Given the description of an element on the screen output the (x, y) to click on. 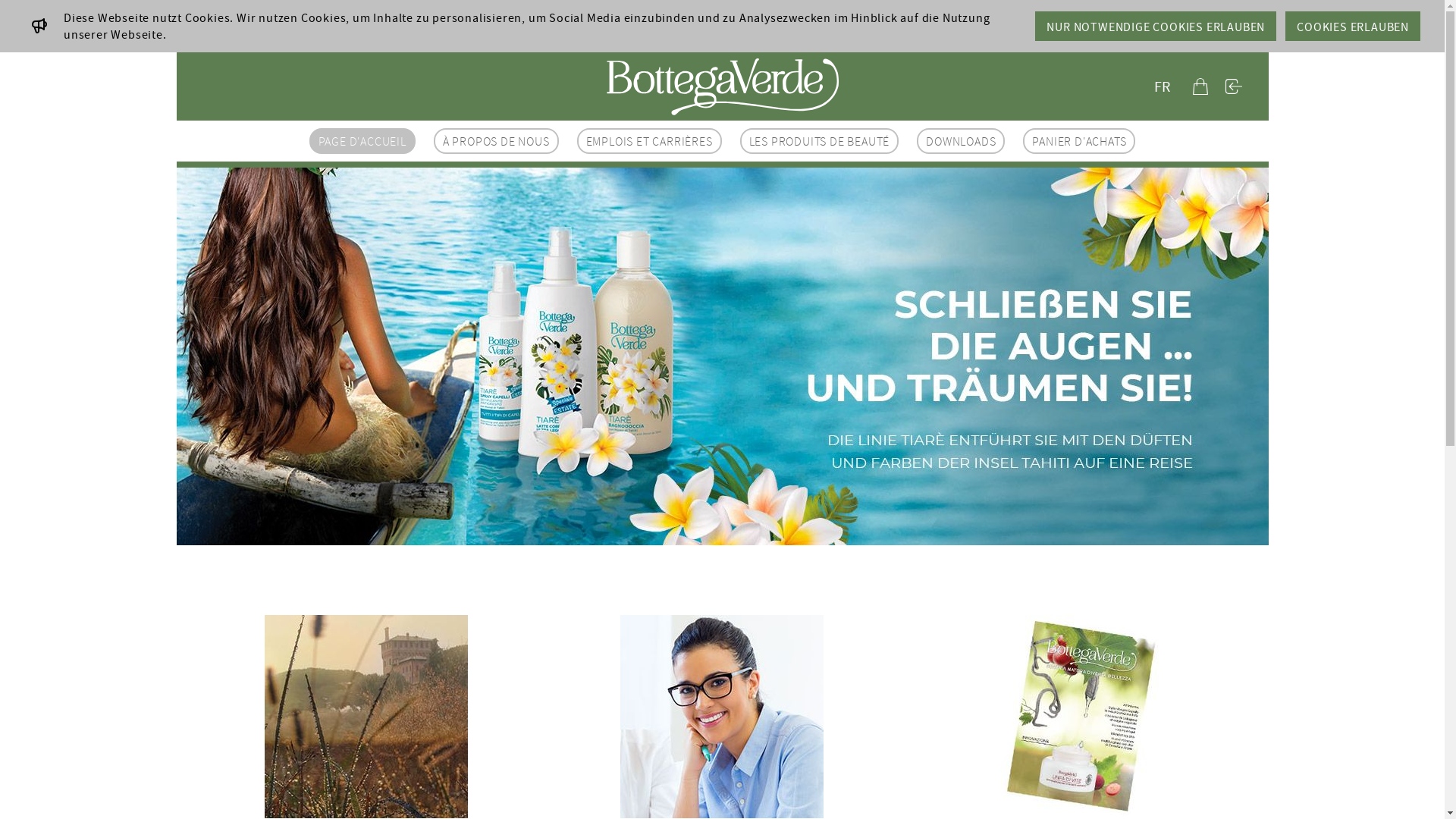
PAGE D'ACCUEIL Element type: text (362, 140)
DOWNLOADS Element type: text (960, 140)
PANIER D'ACHATS Element type: text (1078, 140)
FR Element type: text (1161, 86)
NUR NOTWENDIGE COOKIES ERLAUBEN Element type: text (1155, 25)
COOKIES ERLAUBEN Element type: text (1352, 25)
